Given the description of an element on the screen output the (x, y) to click on. 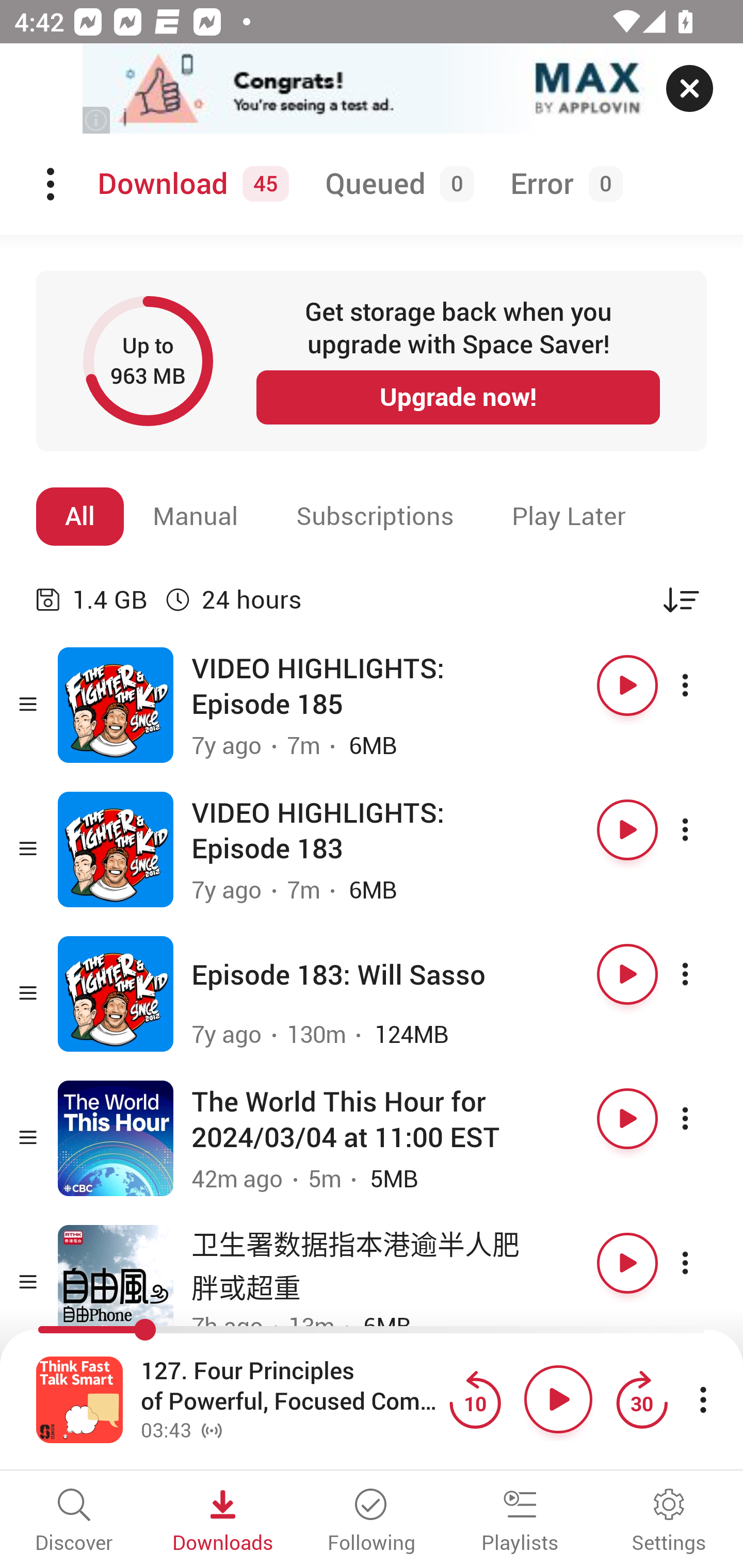
app-monetization (371, 88)
(i) (96, 119)
Menu (52, 184)
 Download 45 (189, 184)
 Queued 0 (396, 184)
 Error 0 (562, 184)
All (80, 516)
Manual (195, 516)
Subscriptions (374, 516)
Play Later (568, 516)
Change sort order (681, 599)
Play button (627, 685)
More options (703, 685)
Open series The Fighter & The Kid (115, 705)
Play button (627, 830)
More options (703, 830)
Open series The Fighter & The Kid (115, 849)
Play button (627, 974)
More options (703, 974)
Open series The Fighter & The Kid (115, 994)
Play button (627, 1118)
More options (703, 1118)
Open series The World This Hour (115, 1138)
Play button (627, 1263)
More options (703, 1263)
Open series 自由风自由PHONE (115, 1282)
Open fullscreen player (79, 1399)
More player controls (703, 1399)
Play button (558, 1398)
Jump back (475, 1399)
Jump forward (641, 1399)
Discover (74, 1521)
Downloads (222, 1521)
Following (371, 1521)
Playlists (519, 1521)
Settings (668, 1521)
